Given the description of an element on the screen output the (x, y) to click on. 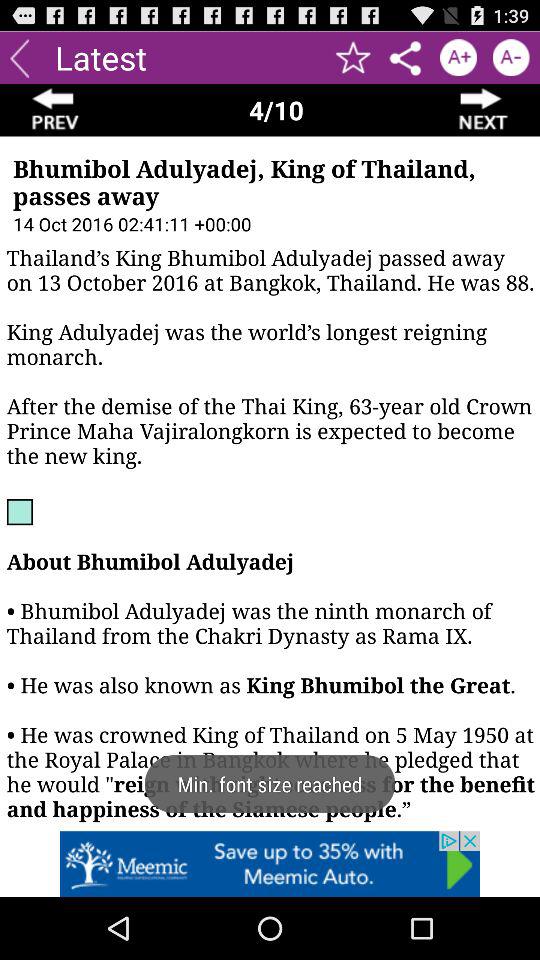
go back to previous (55, 110)
